Given the description of an element on the screen output the (x, y) to click on. 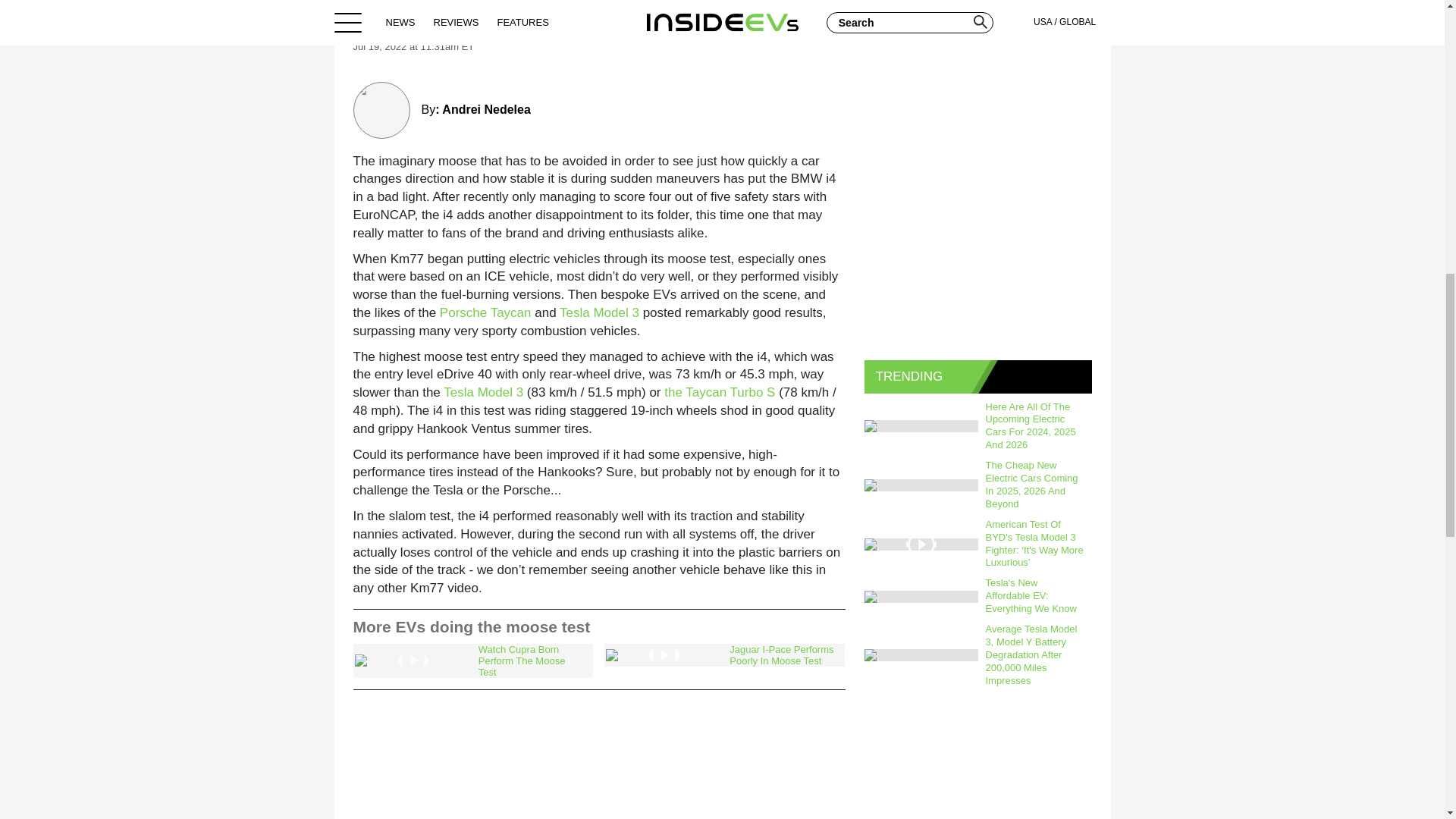
the Taycan Turbo S (718, 391)
Porsche (462, 312)
Model 3 (615, 312)
Andrei Nedelea (485, 109)
Taycan (510, 312)
Tesla (574, 312)
Tesla Model 3 (483, 391)
